Given the description of an element on the screen output the (x, y) to click on. 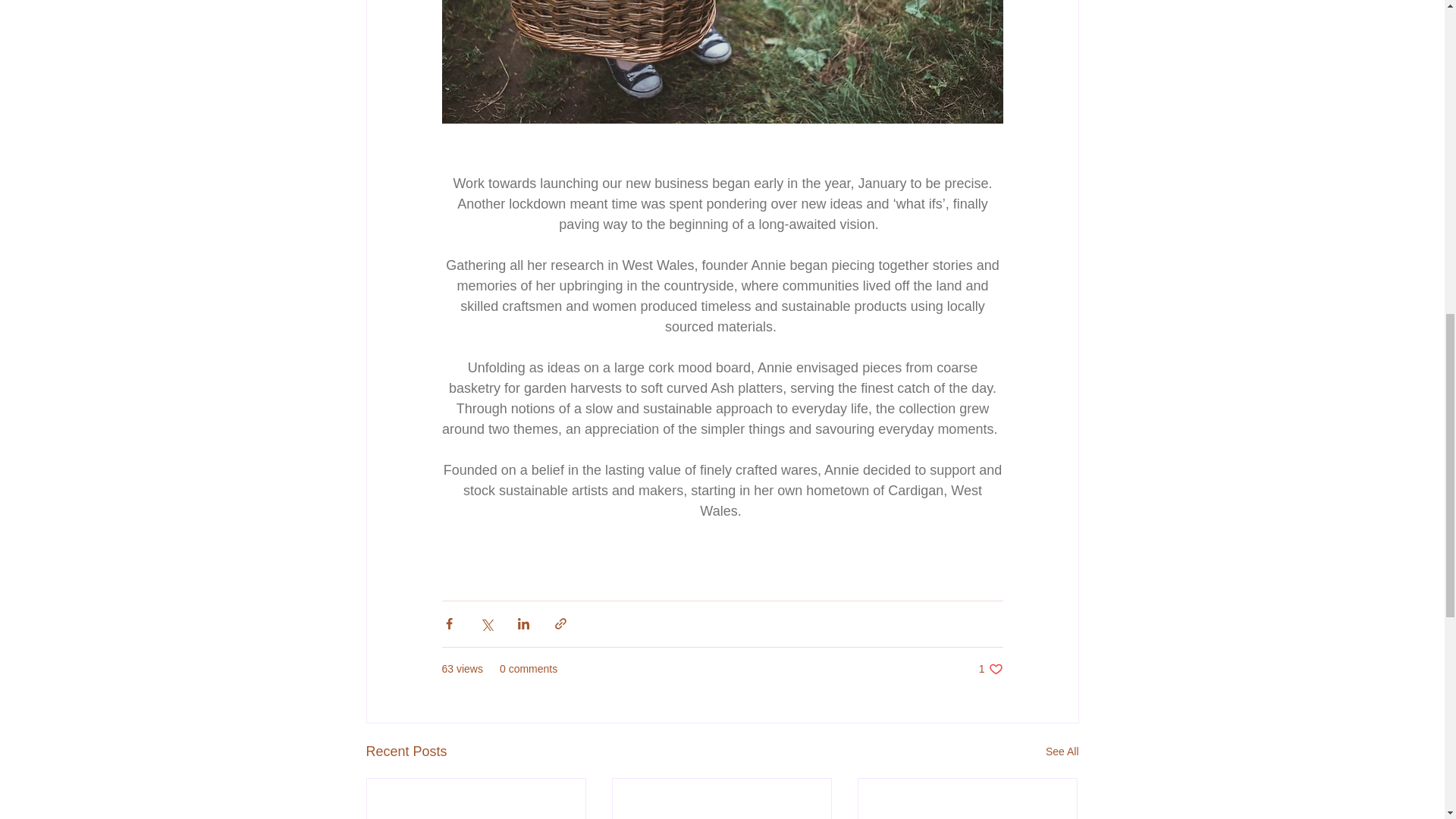
basketry (473, 387)
